Given the description of an element on the screen output the (x, y) to click on. 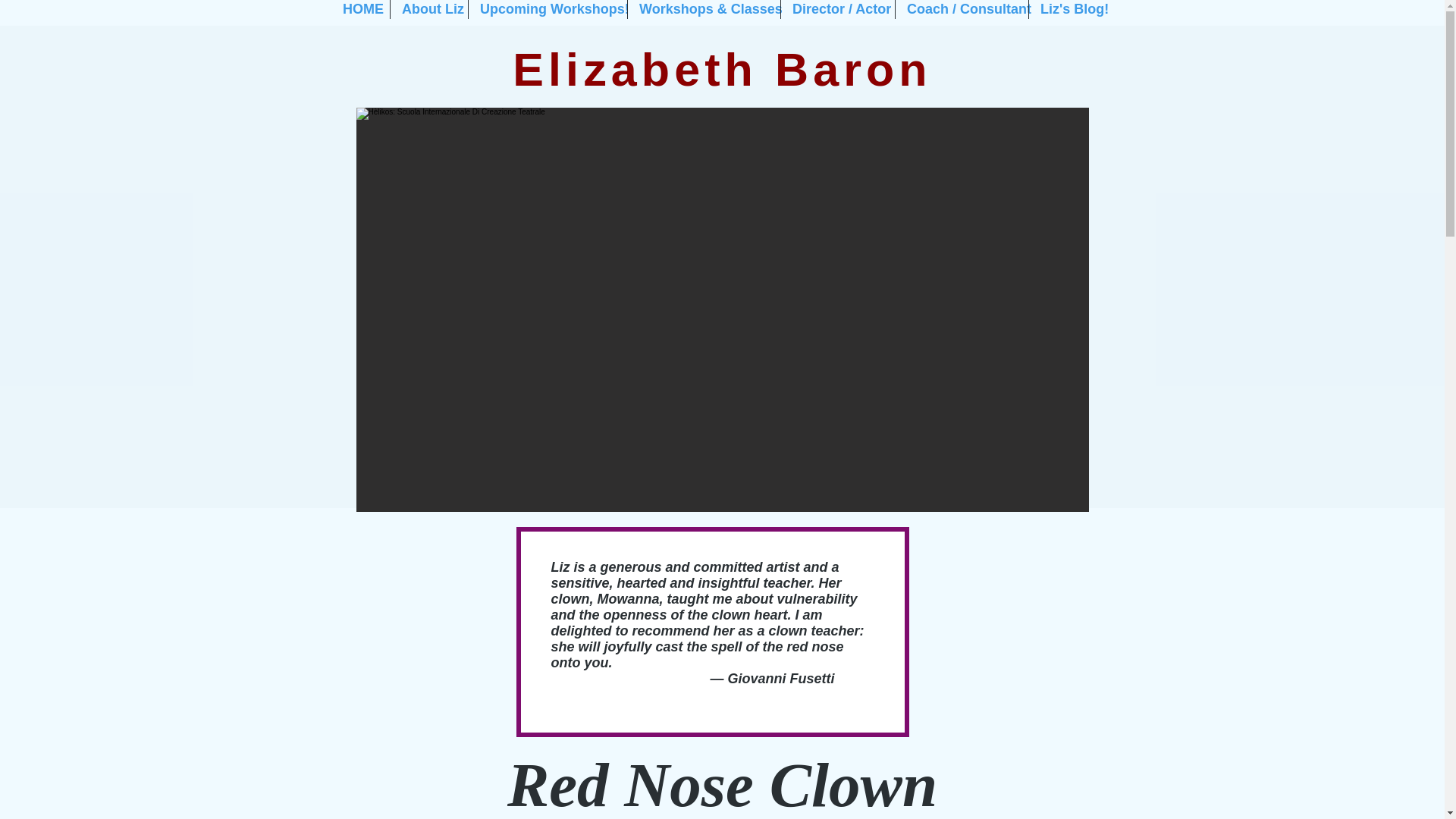
Upcoming Workshops! (547, 9)
HOME (360, 9)
About Liz (428, 9)
Liz's Blog! (1071, 9)
